Given the description of an element on the screen output the (x, y) to click on. 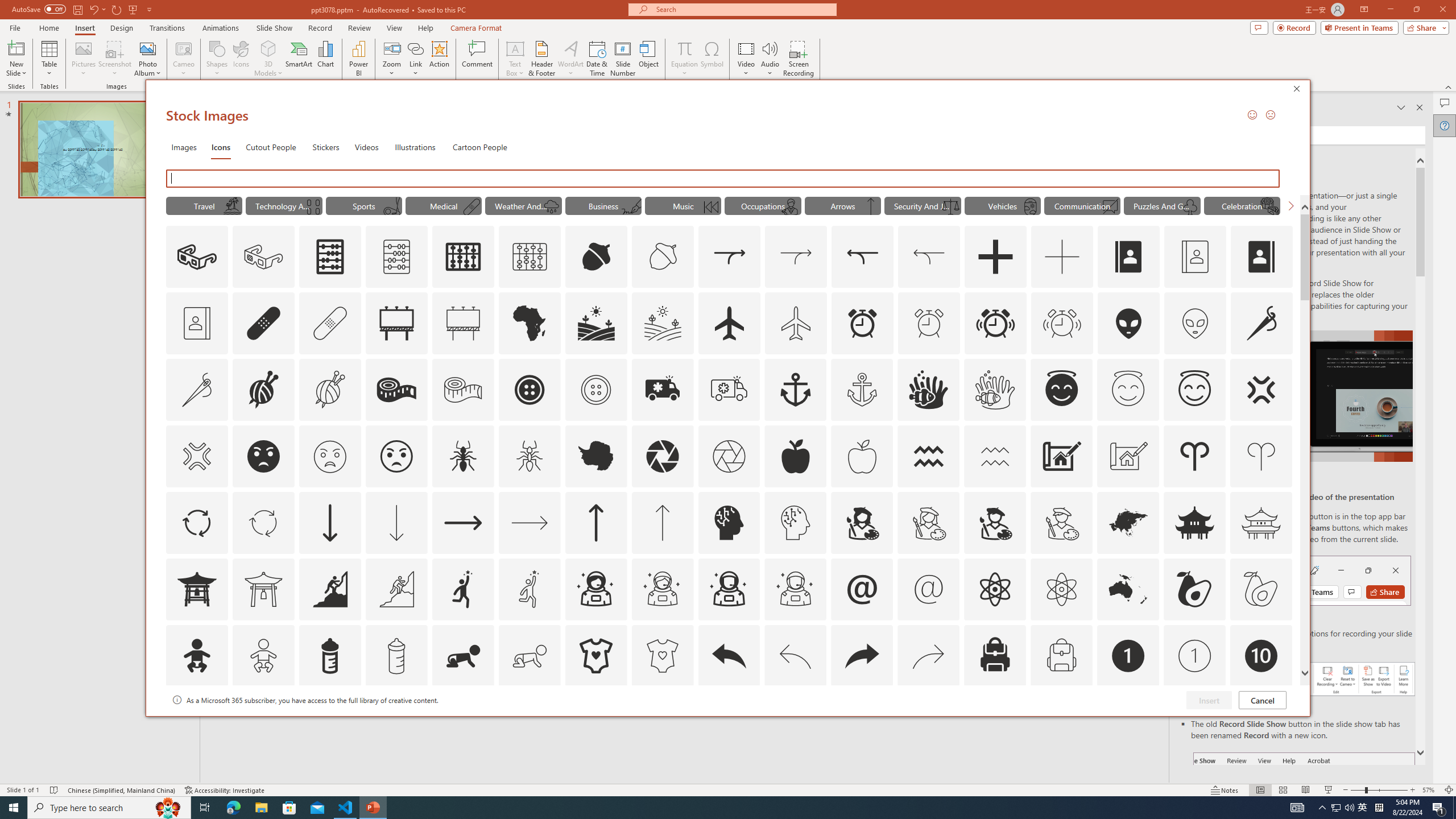
Search Icons (725, 178)
AutomationID: Icons_Badge3 (395, 721)
AutomationID: Icons_Back_LTR (729, 655)
AutomationID: Icons_Anchor (795, 389)
AutomationID: Icons_Abacus_M (397, 256)
AutomationID: Icons_AnemoneAndClownfish (928, 389)
AutomationID: Icons_Agriculture (596, 323)
AutomationID: Icons_Abacus1_M (529, 256)
AutomationID: Icons_Airplane (729, 323)
